Given the description of an element on the screen output the (x, y) to click on. 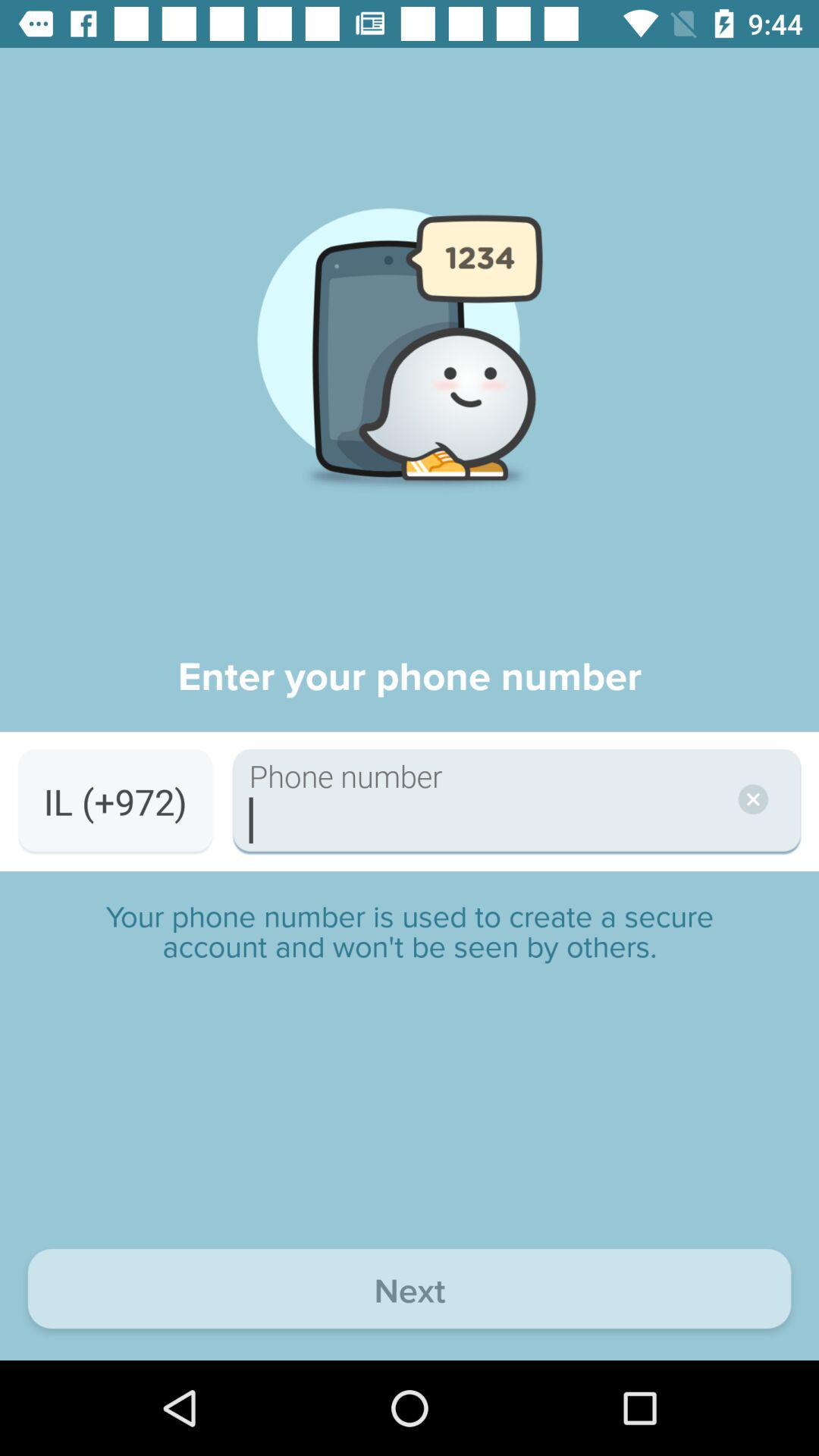
jump to il (+972) (114, 801)
